Given the description of an element on the screen output the (x, y) to click on. 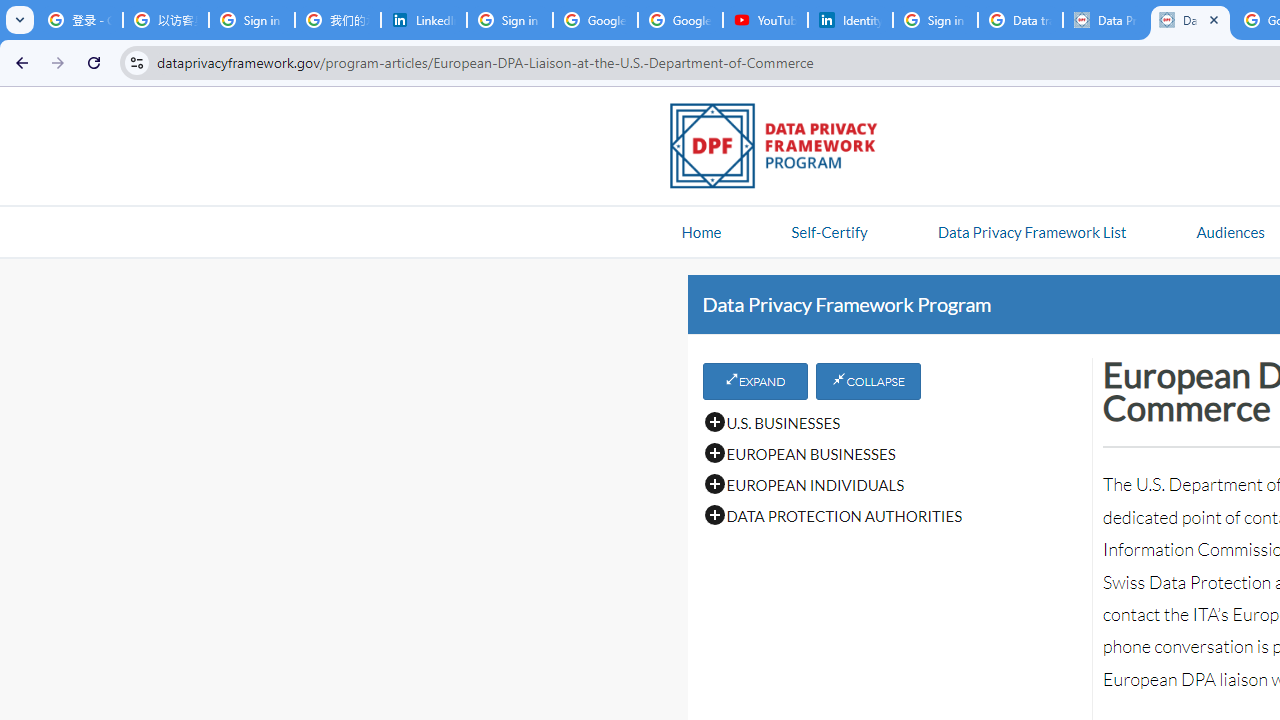
Data Privacy Framework (1105, 20)
Data Privacy Framework List (1031, 231)
COLLAPSE (868, 381)
LinkedIn Privacy Policy (424, 20)
Sign in - Google Accounts (935, 20)
